Given the description of an element on the screen output the (x, y) to click on. 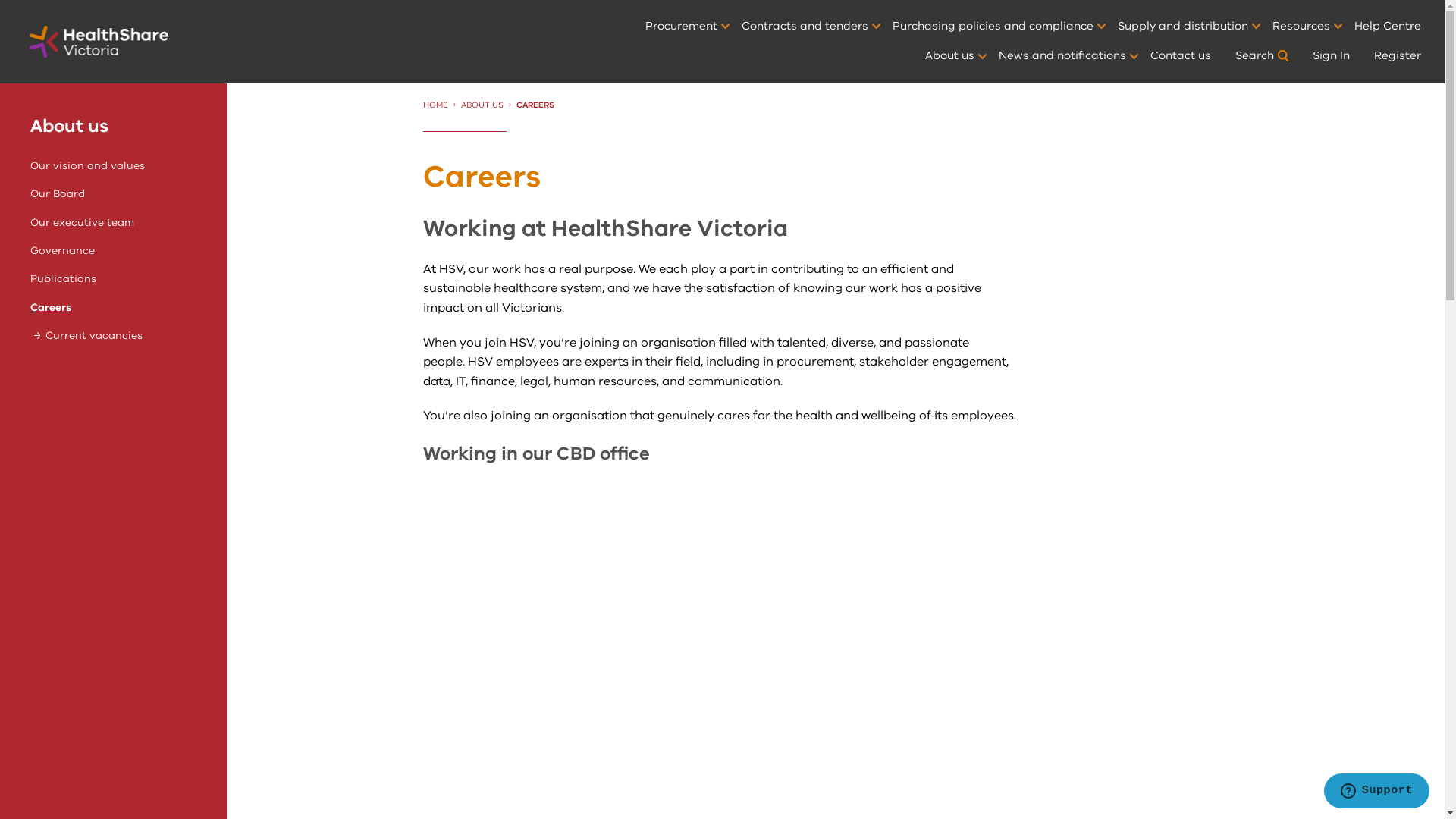
Contracts and tenders Element type: text (804, 26)
Current vacancies Element type: text (93, 335)
Contact us Element type: text (1180, 56)
Log in Element type: text (1212, 340)
News and notifications Element type: text (1062, 56)
Supply and distribution Element type: text (1182, 26)
Publications Element type: text (63, 278)
About us Element type: text (69, 125)
Register Element type: text (1397, 56)
Opens a widget where you can find more information Element type: hover (1376, 792)
ABOUT US Element type: text (482, 104)
Help Centre Element type: text (1387, 26)
Our executive team Element type: text (82, 222)
Procurement Element type: text (681, 26)
Careers Element type: text (50, 307)
HOME Element type: text (435, 104)
Skip to Content Element type: text (0, 0)
About us Element type: text (949, 56)
Governance Element type: text (62, 250)
Resources Element type: text (1301, 26)
Our Board Element type: text (57, 193)
Sign In Element type: text (1330, 56)
Purchasing policies and compliance Element type: text (992, 26)
Search Element type: text (1261, 56)
Our vision and values Element type: text (87, 165)
